Given the description of an element on the screen output the (x, y) to click on. 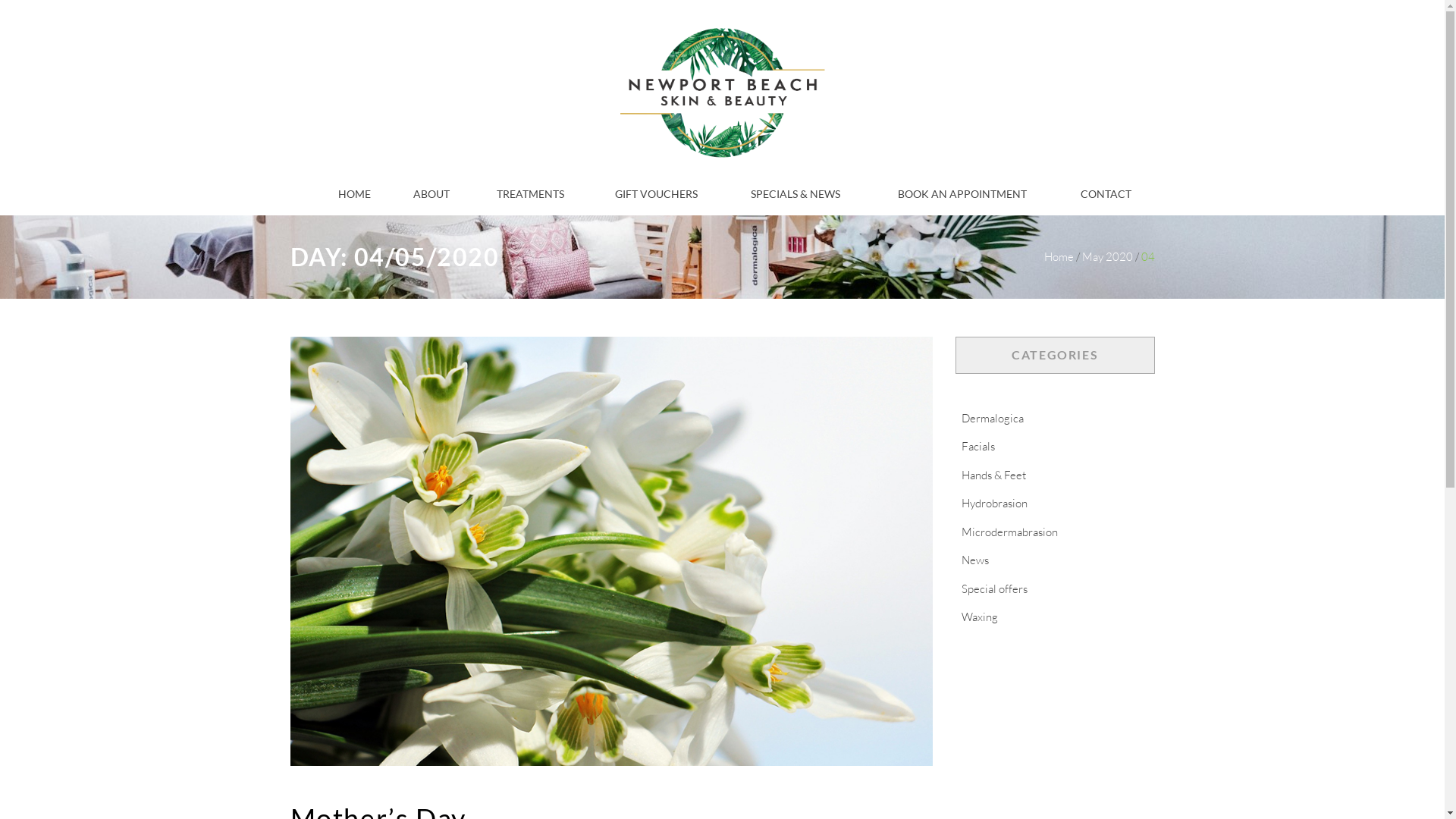
News Element type: text (974, 559)
May 2020 Element type: text (1106, 256)
TREATMENTS Element type: text (530, 194)
Facials Element type: text (978, 446)
HOME Element type: text (354, 194)
GIFT VOUCHERS Element type: text (656, 194)
Special offers Element type: text (994, 588)
ABOUT Element type: text (431, 194)
Dermalogica Element type: text (992, 418)
CONTACT Element type: text (1105, 194)
BOOK AN APPOINTMENT Element type: text (961, 194)
Hands & Feet Element type: text (993, 474)
SPECIALS & NEWS Element type: text (795, 194)
Home Element type: text (1058, 256)
Waxing Element type: text (979, 616)
Hydrobrasion Element type: text (994, 502)
Microdermabrasion Element type: text (1009, 531)
